Given the description of an element on the screen output the (x, y) to click on. 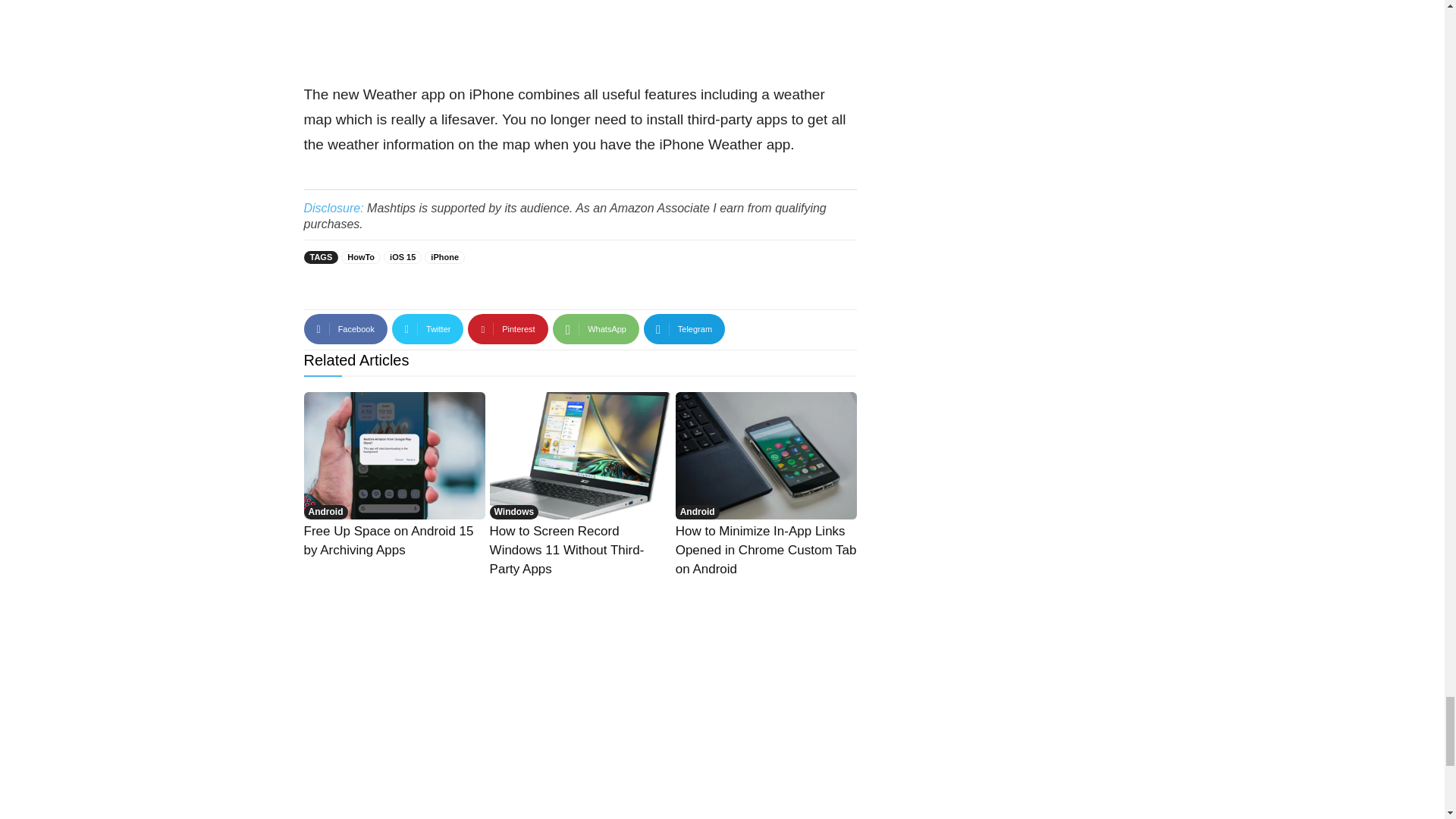
Facebook (344, 328)
